Given the description of an element on the screen output the (x, y) to click on. 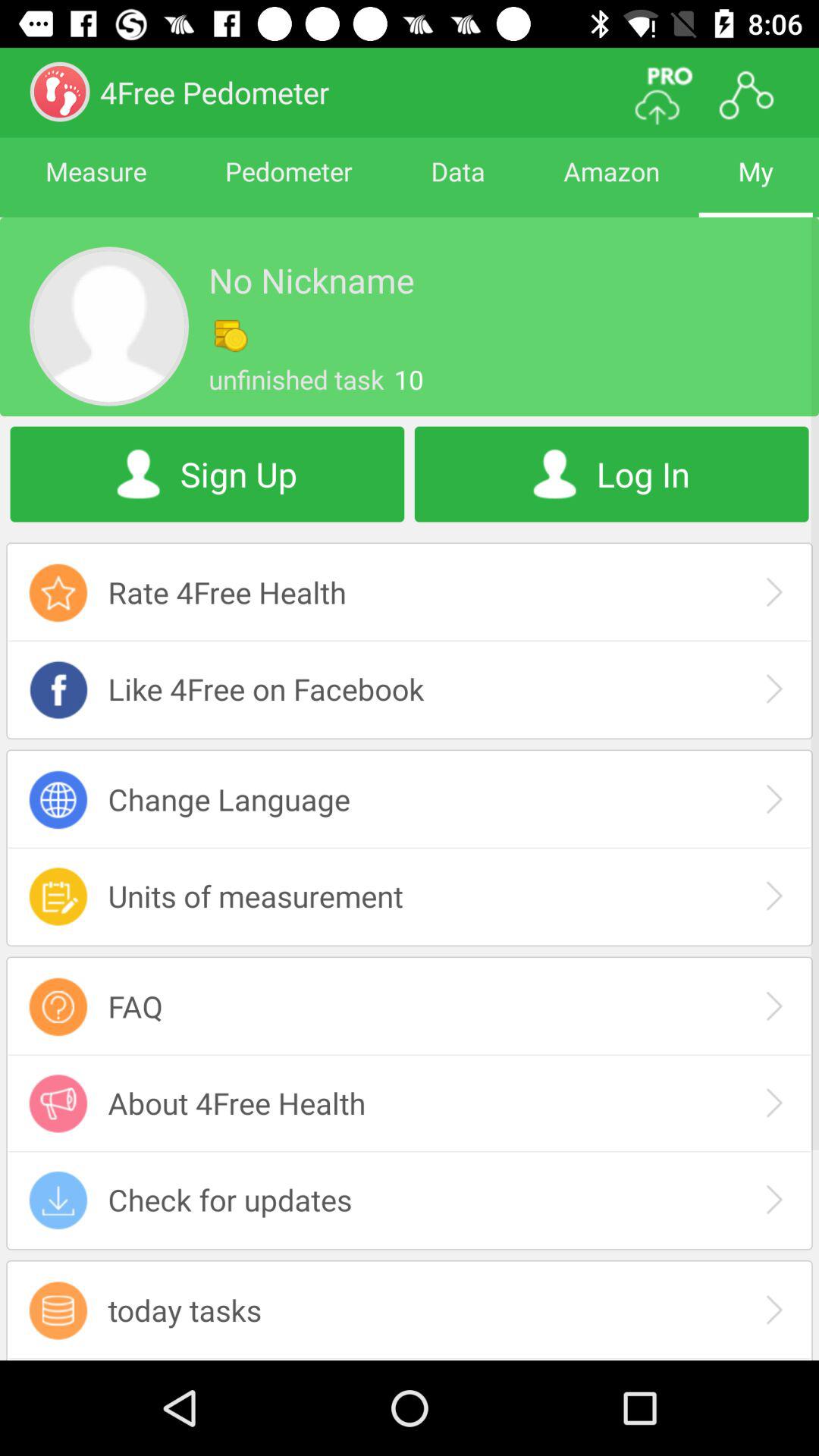
click measure item (95, 185)
